Given the description of an element on the screen output the (x, y) to click on. 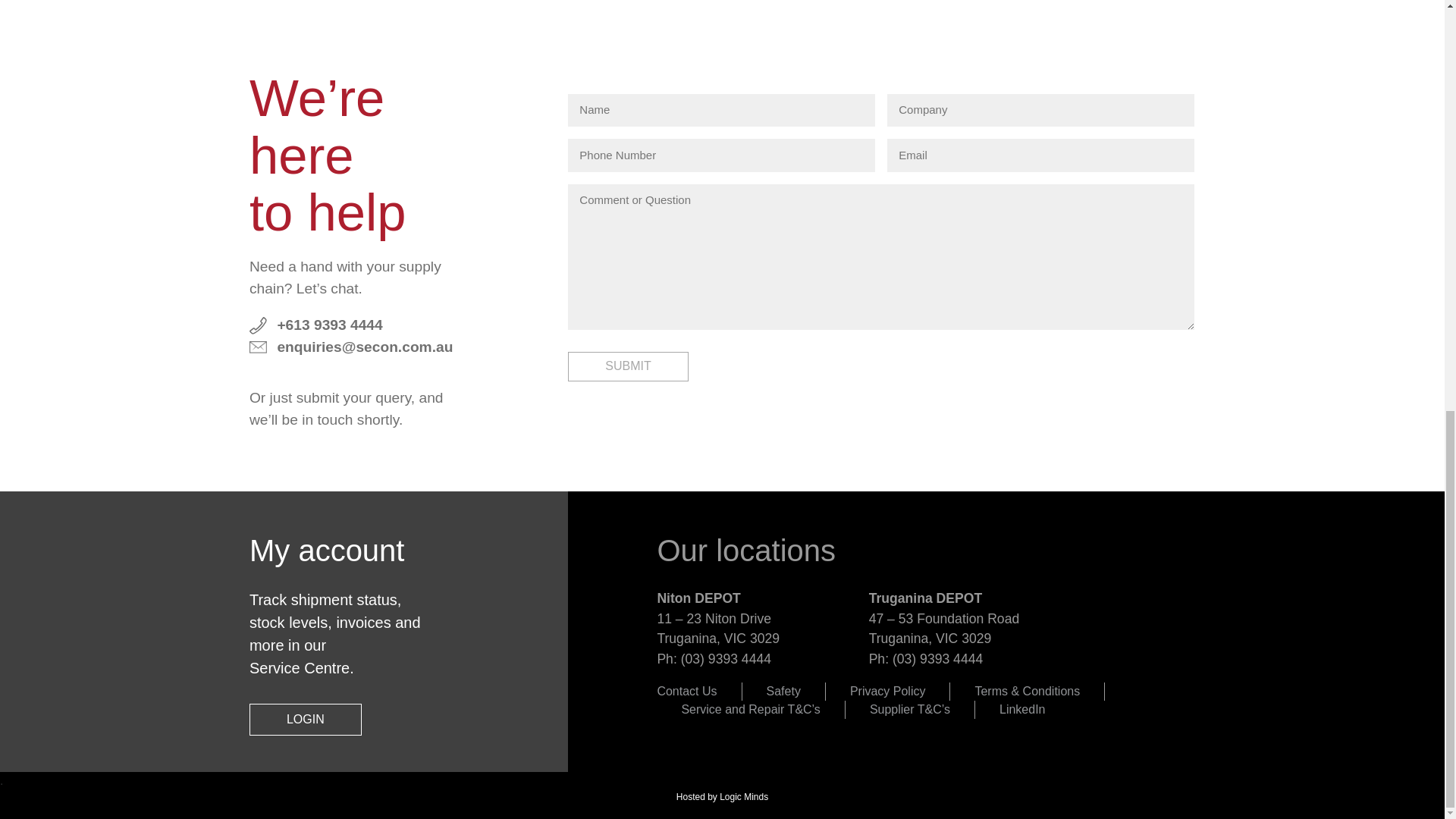
Contact Us (686, 690)
SUBMIT (627, 366)
SUBMIT (627, 366)
LOGIN (304, 719)
LinkedIn (1021, 708)
Logic Minds (743, 796)
Privacy Policy (888, 690)
Safety (783, 690)
